Given the description of an element on the screen output the (x, y) to click on. 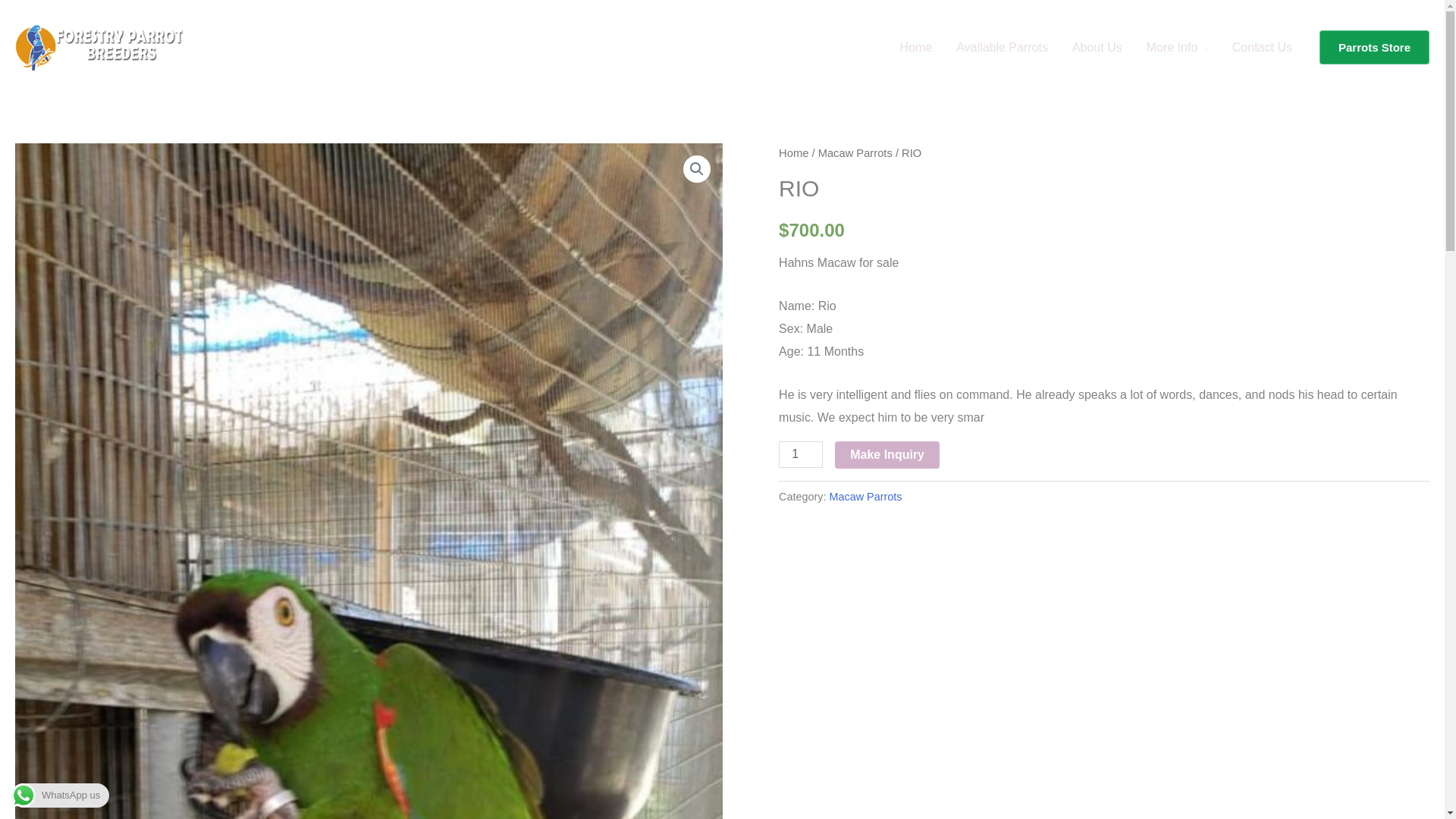
More Info (1177, 47)
About Us (1096, 47)
1 (800, 454)
Home (916, 47)
Home (793, 152)
Macaw Parrots (855, 152)
Make Inquiry (886, 454)
Contact Us (1262, 47)
Macaw Parrots (865, 496)
Available Parrots (1001, 47)
